Given the description of an element on the screen output the (x, y) to click on. 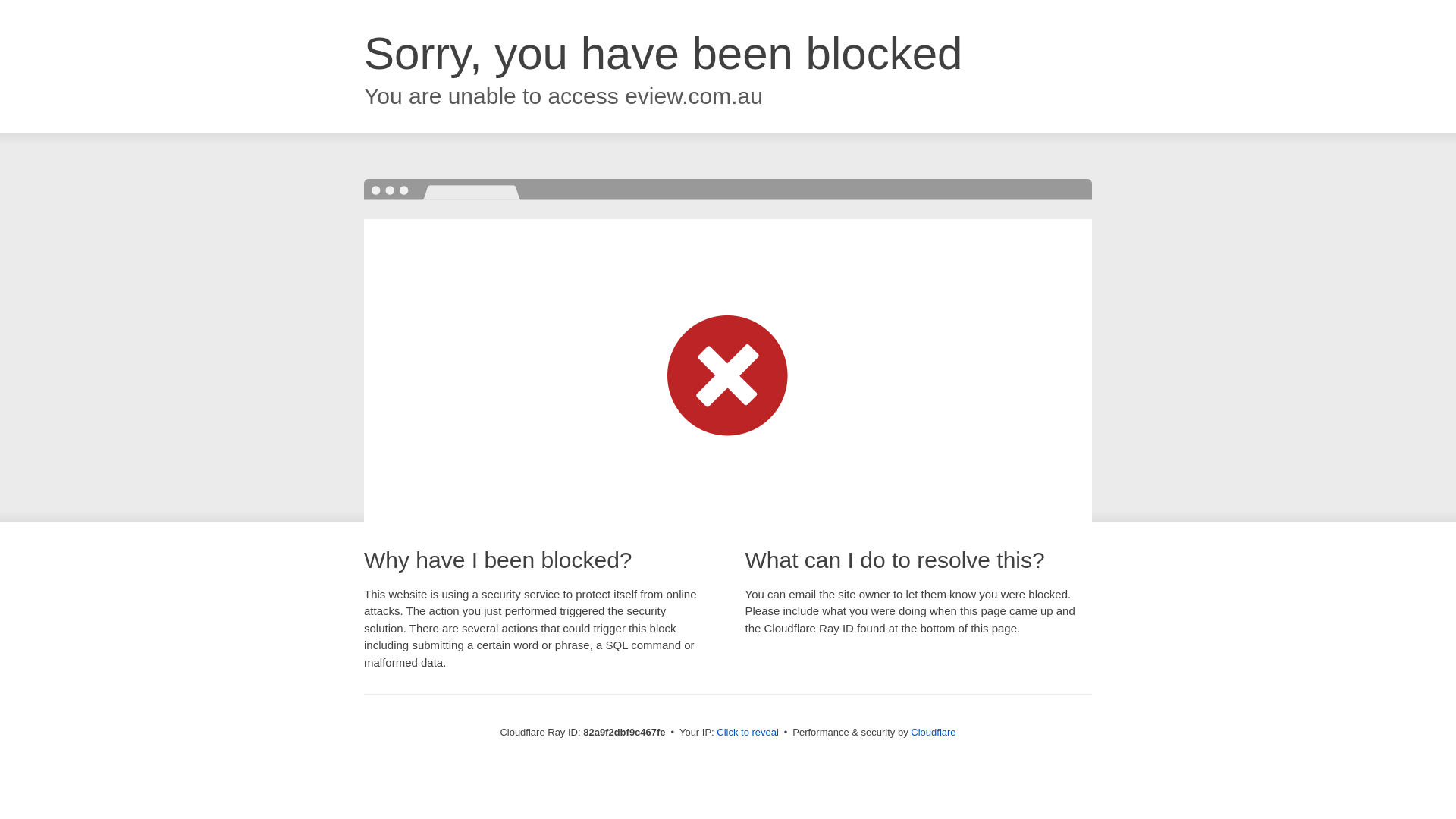
Click to reveal Element type: text (747, 732)
Cloudflare Element type: text (932, 731)
